Given the description of an element on the screen output the (x, y) to click on. 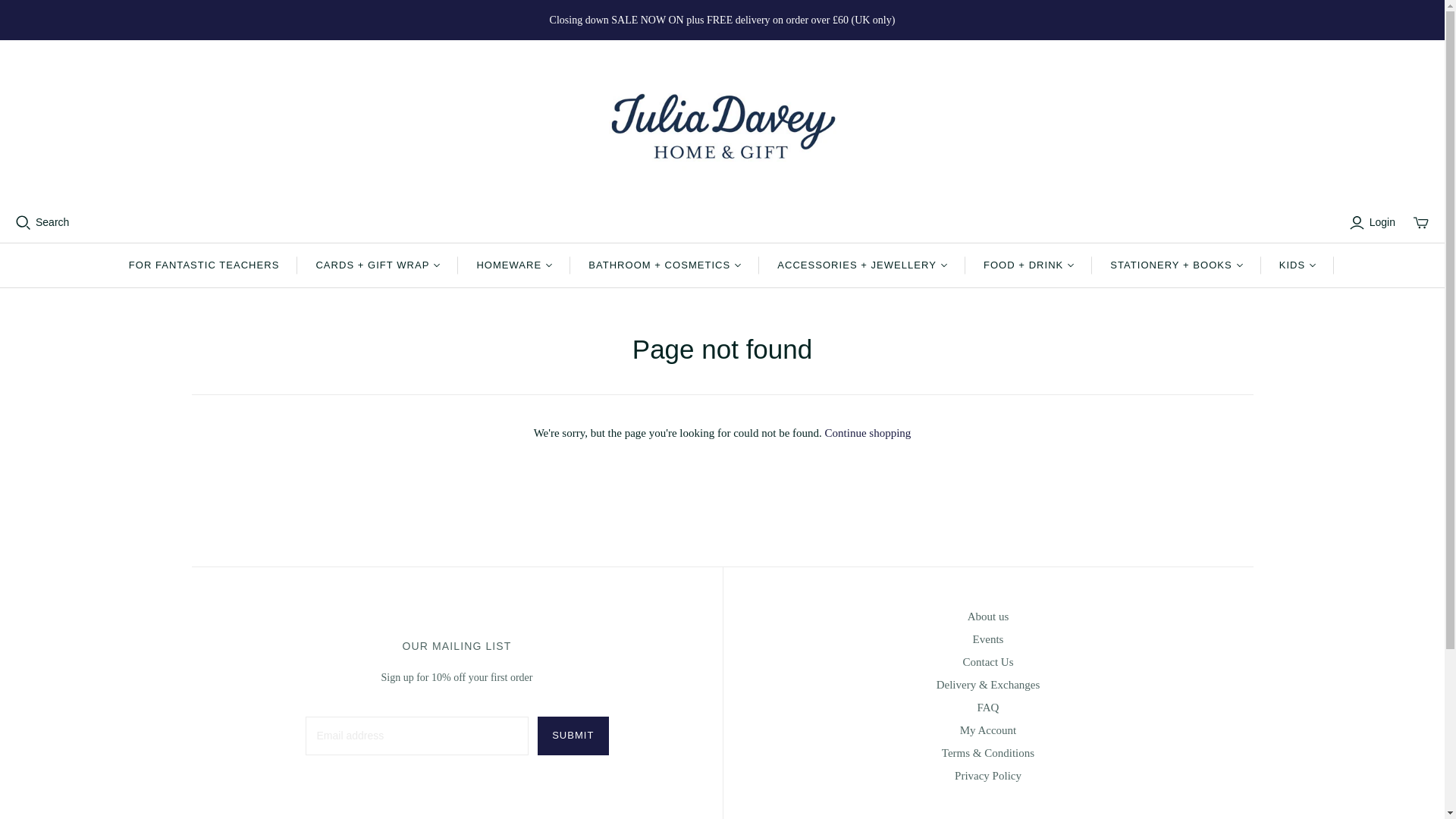
FOR FANTASTIC TEACHERS (204, 265)
Login (1374, 222)
